Given the description of an element on the screen output the (x, y) to click on. 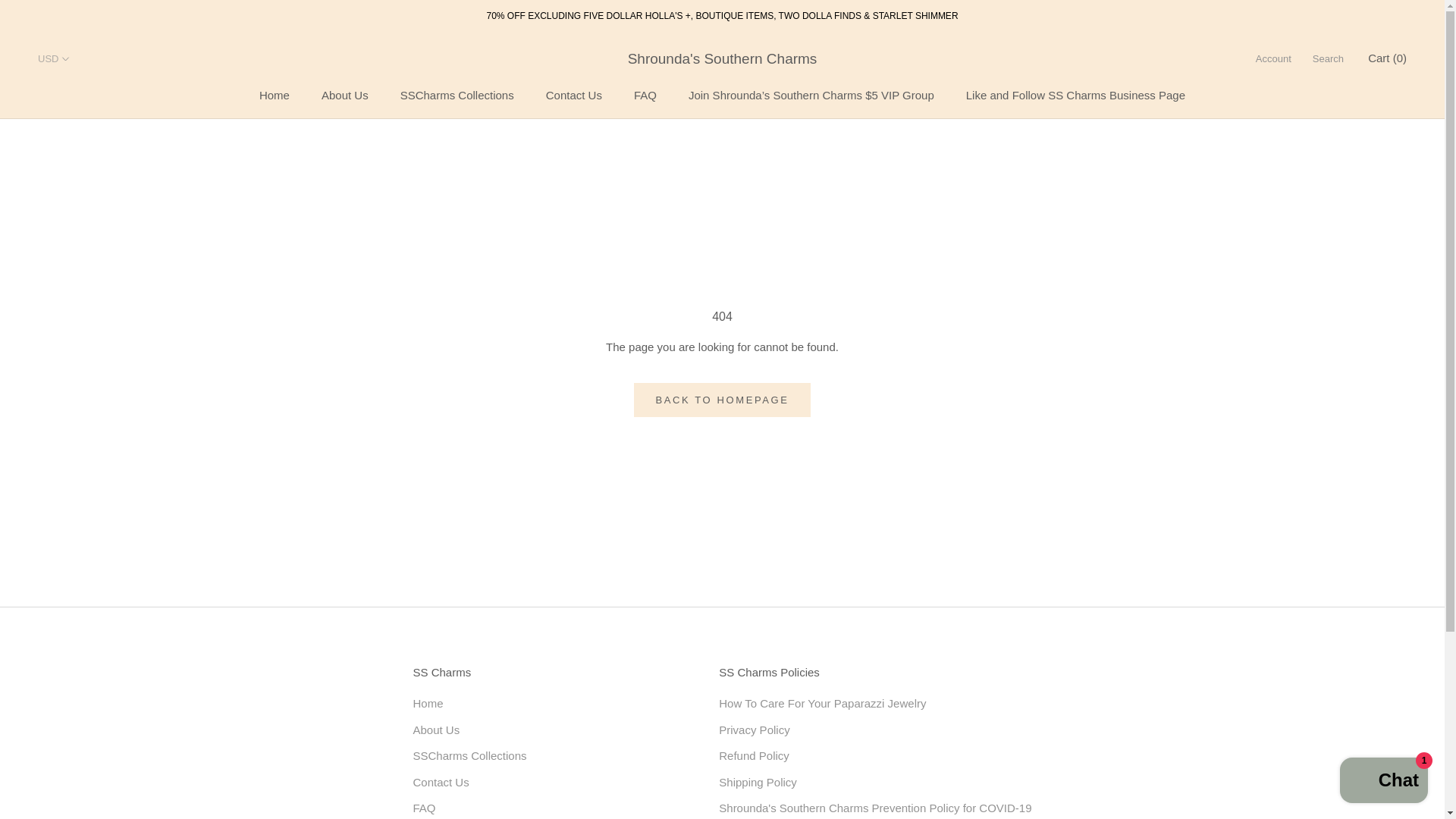
Shopify online store chat (456, 94)
Shipping Policy (644, 94)
FAQ (1383, 781)
About Us (574, 94)
Refund Policy (344, 94)
Home (874, 782)
SSCharms Collections (535, 808)
BACK TO HOMEPAGE (535, 730)
Currency selector (874, 755)
How To Care For Your Paparazzi Jewelry (535, 703)
